Given the description of an element on the screen output the (x, y) to click on. 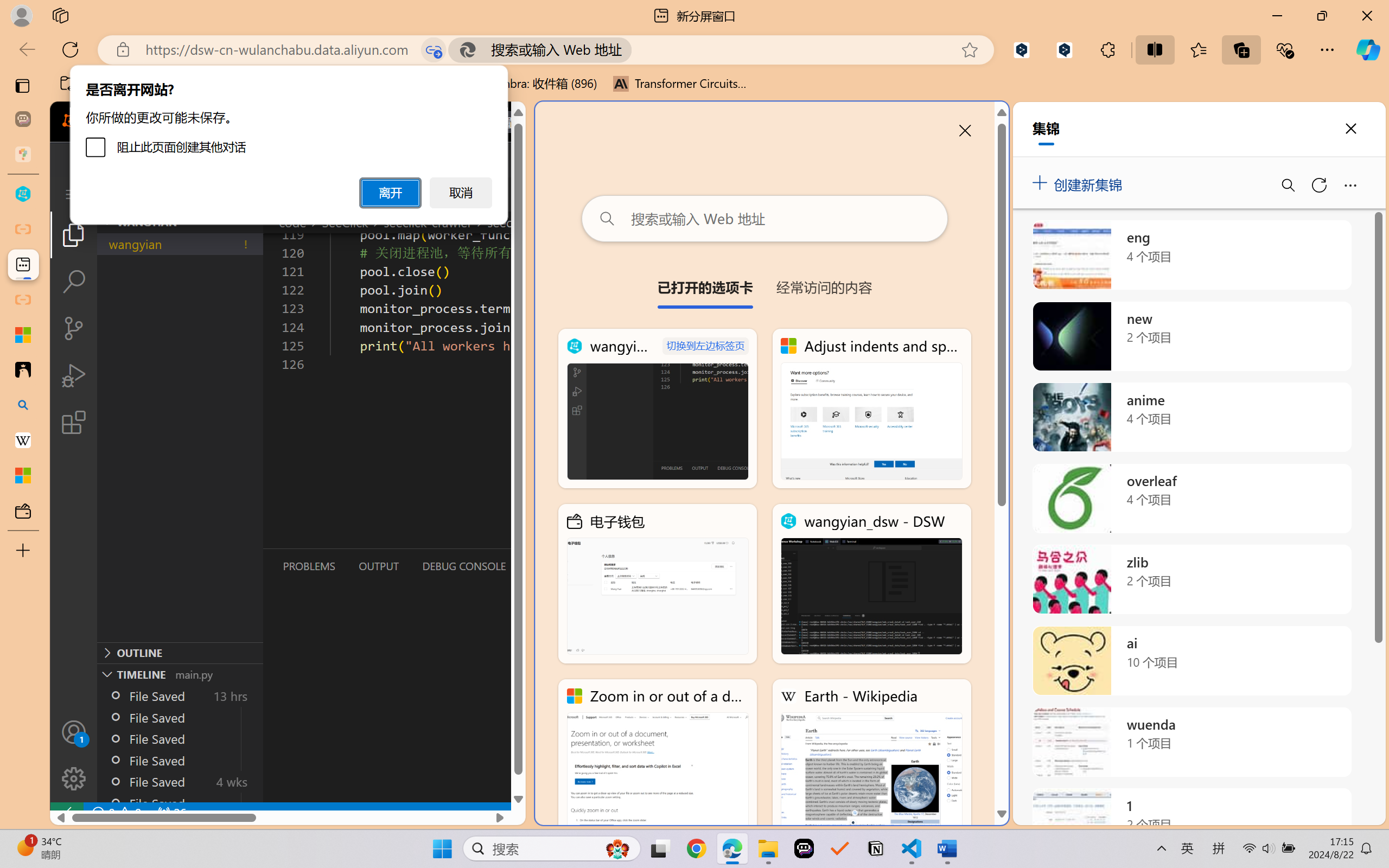
Select (727, 74)
Redo (111, 9)
Font Color Red (305, 71)
Copy (42, 62)
Reset (131, 62)
Bullets (337, 52)
Row Down (583, 59)
Increase Indent (393, 52)
Zoom In (1347, 837)
Task Pane Options (1336, 113)
Help (1377, 109)
Text Highlight Color (287, 71)
Strikethrough (225, 71)
Paragraph... (502, 91)
Open (272, 52)
